Given the description of an element on the screen output the (x, y) to click on. 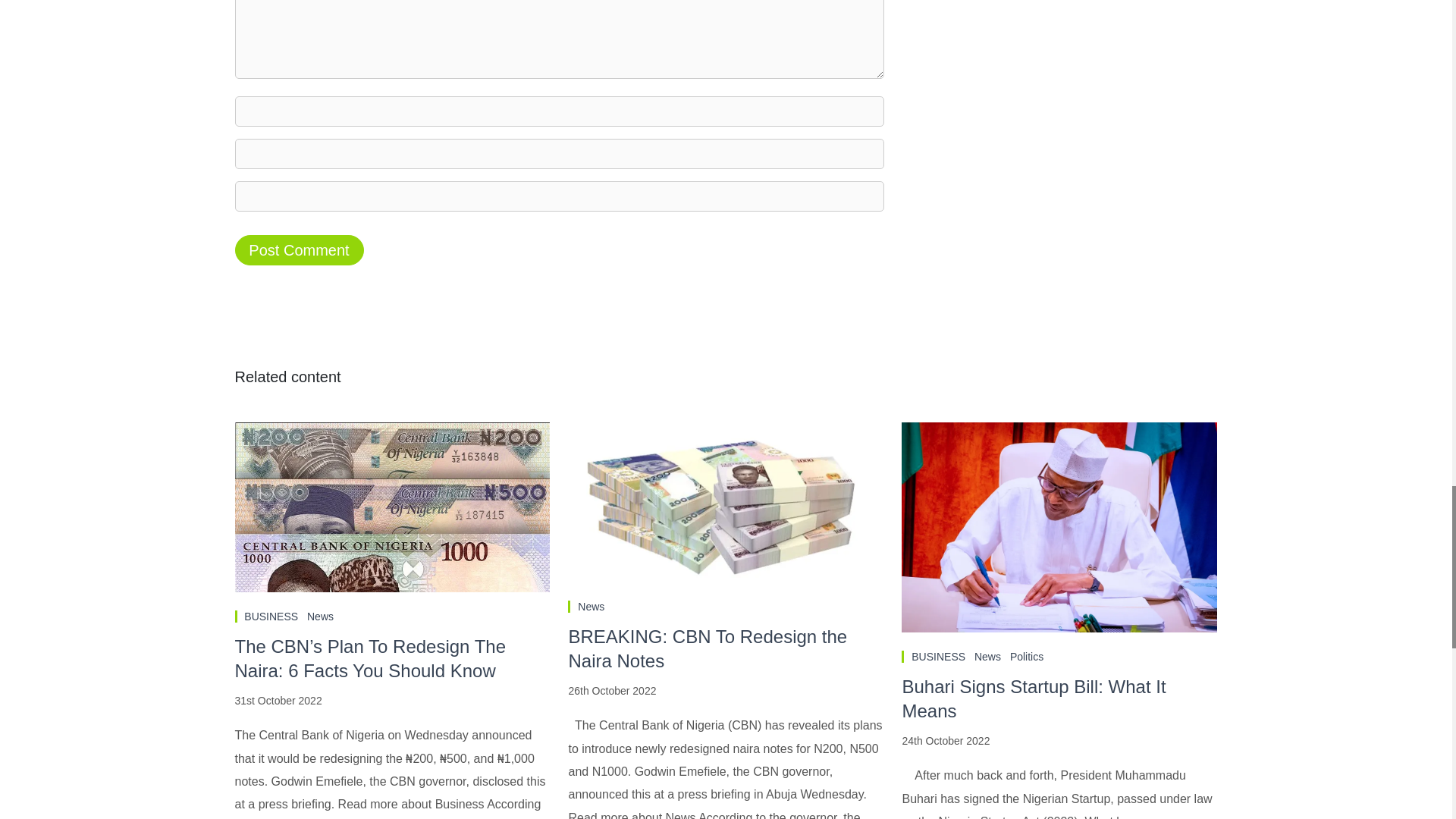
Post Comment (299, 250)
